Given the description of an element on the screen output the (x, y) to click on. 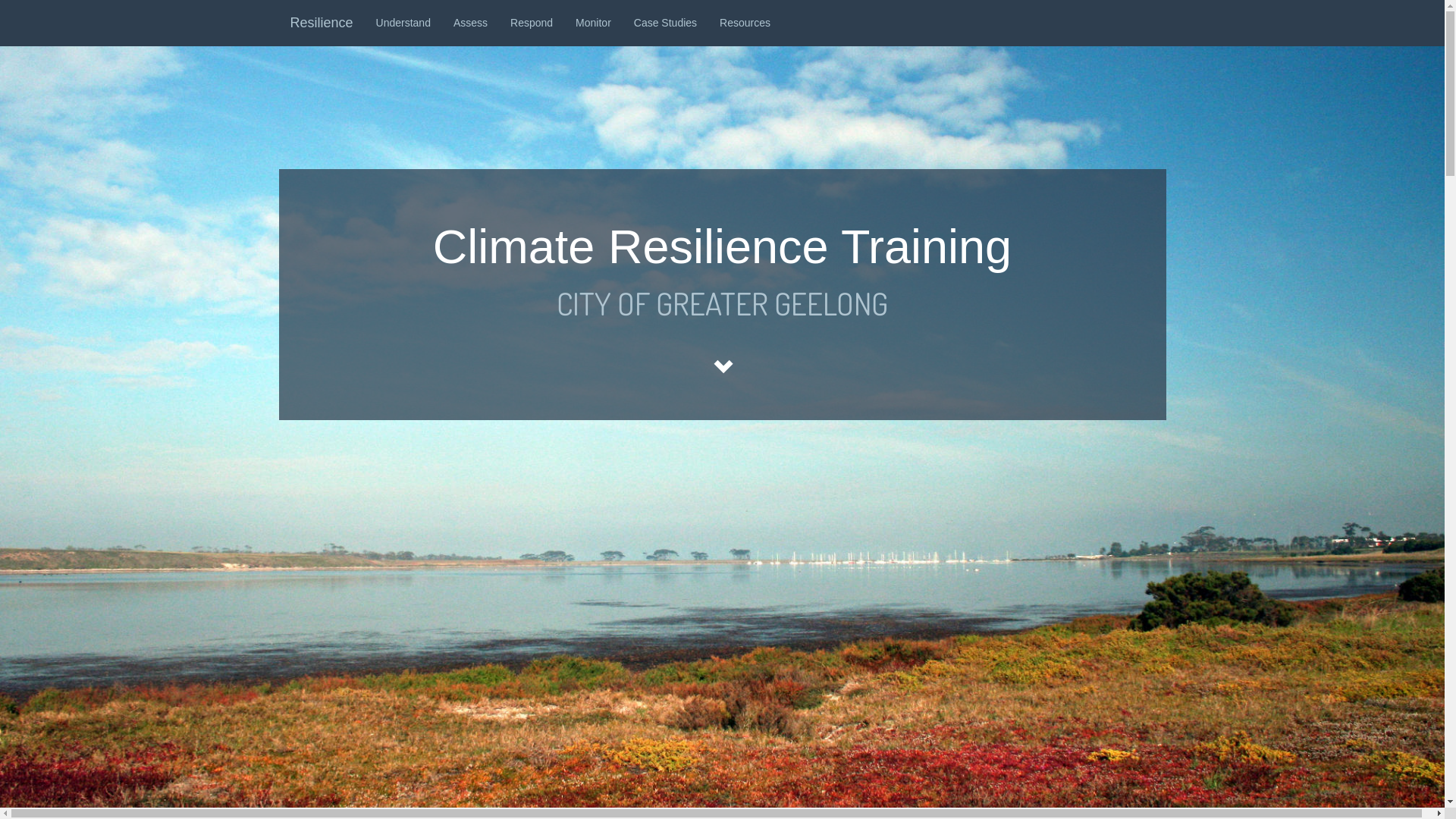
Understand Element type: text (403, 22)
Respond Element type: text (531, 22)
Assess Element type: text (470, 22)
Resilience Element type: text (321, 22)
Monitor Element type: text (593, 22)
Case Studies Element type: text (665, 22)
Resources Element type: text (744, 22)
